Given the description of an element on the screen output the (x, y) to click on. 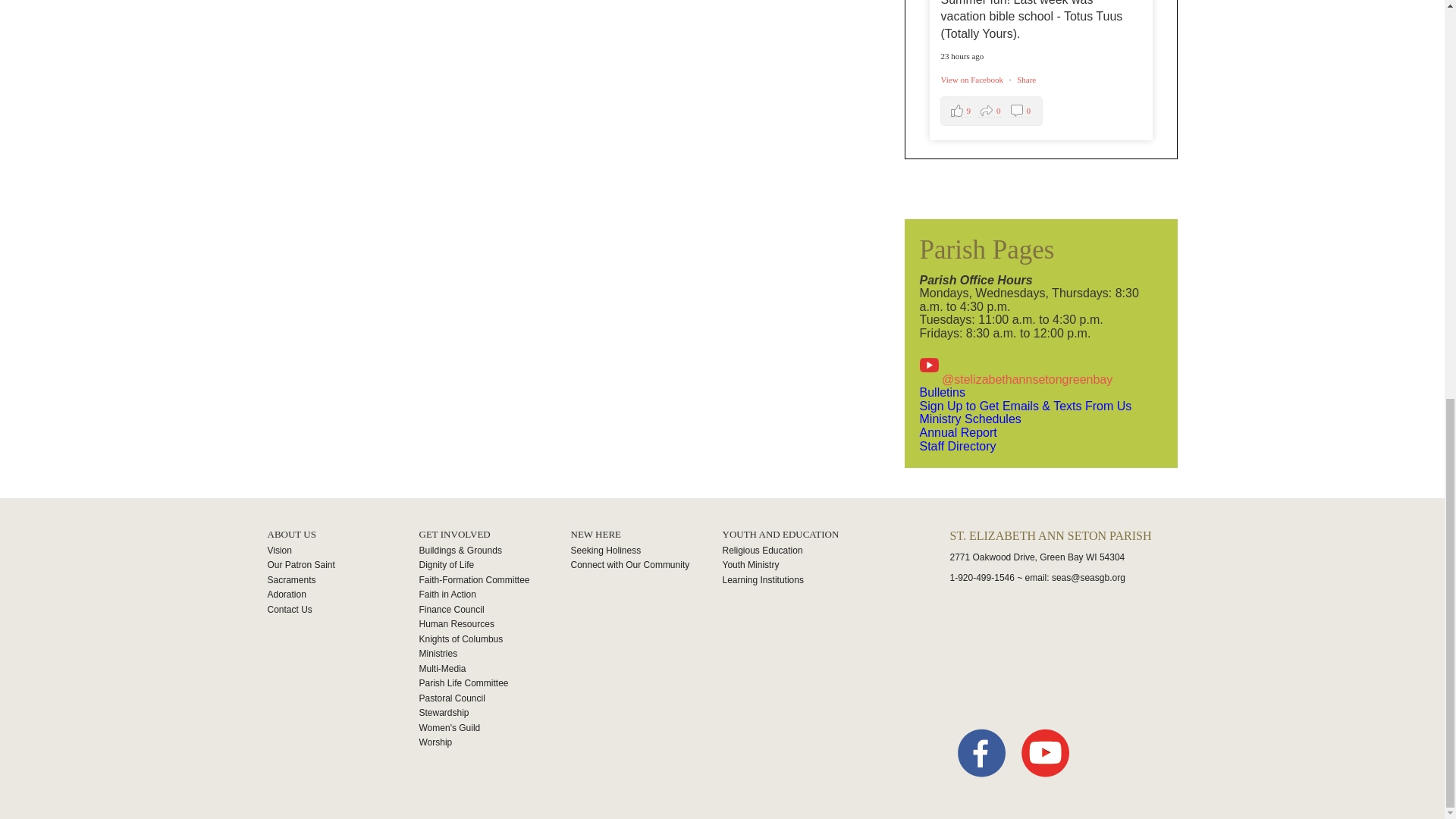
Sacraments (342, 580)
Ministry Schedules (969, 418)
Share (1025, 79)
Bulletins (940, 391)
View on Facebook (972, 79)
Dignity of Life (991, 111)
Share (494, 565)
Adoration (1025, 79)
Contact Us (342, 595)
